Given the description of an element on the screen output the (x, y) to click on. 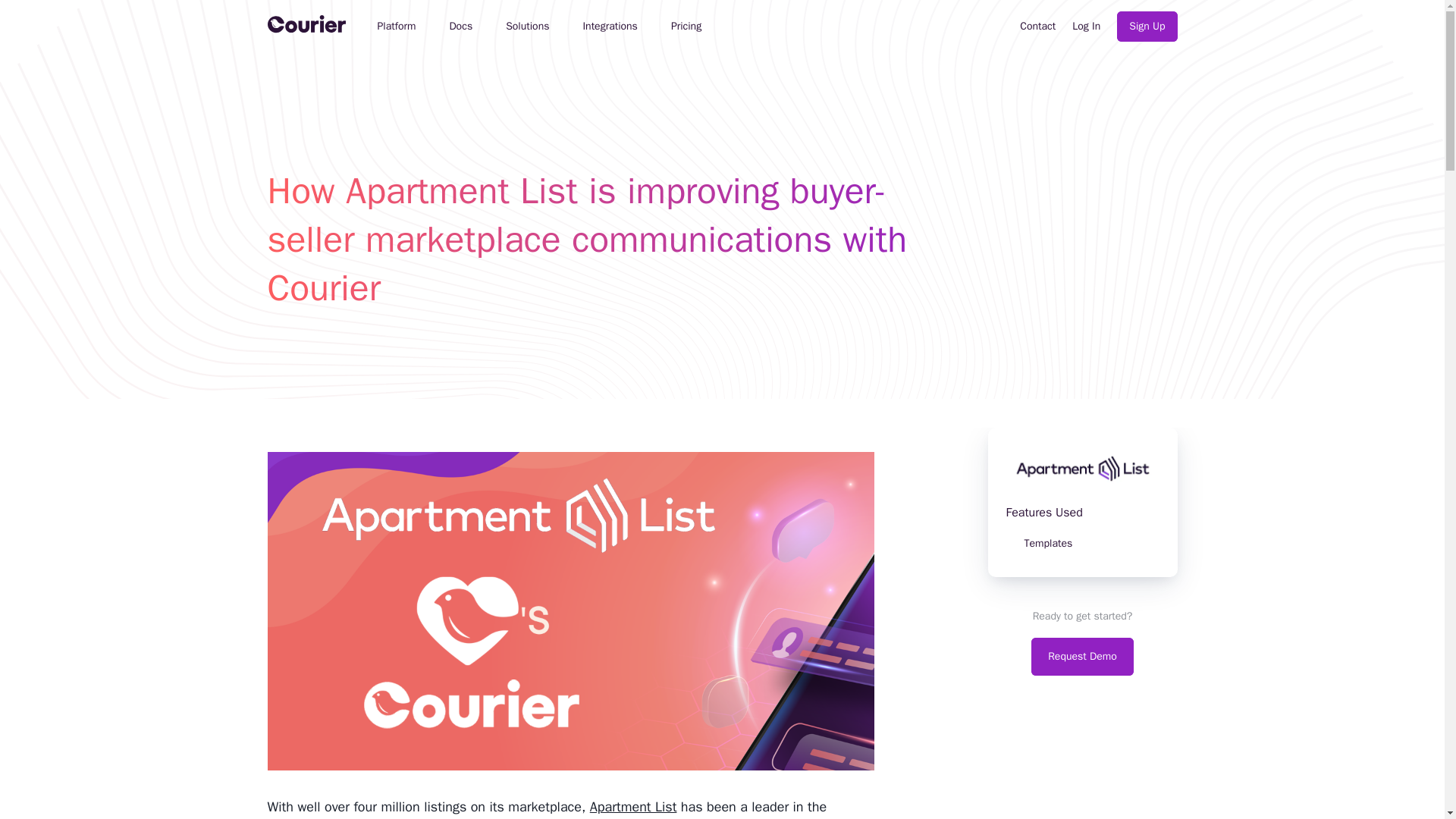
Log In (1085, 26)
Sign Up (1146, 26)
Docs (459, 26)
Apartment List (633, 806)
Contact (1037, 26)
Integrations (609, 26)
Pricing (686, 26)
Request Demo (1082, 656)
